Given the description of an element on the screen output the (x, y) to click on. 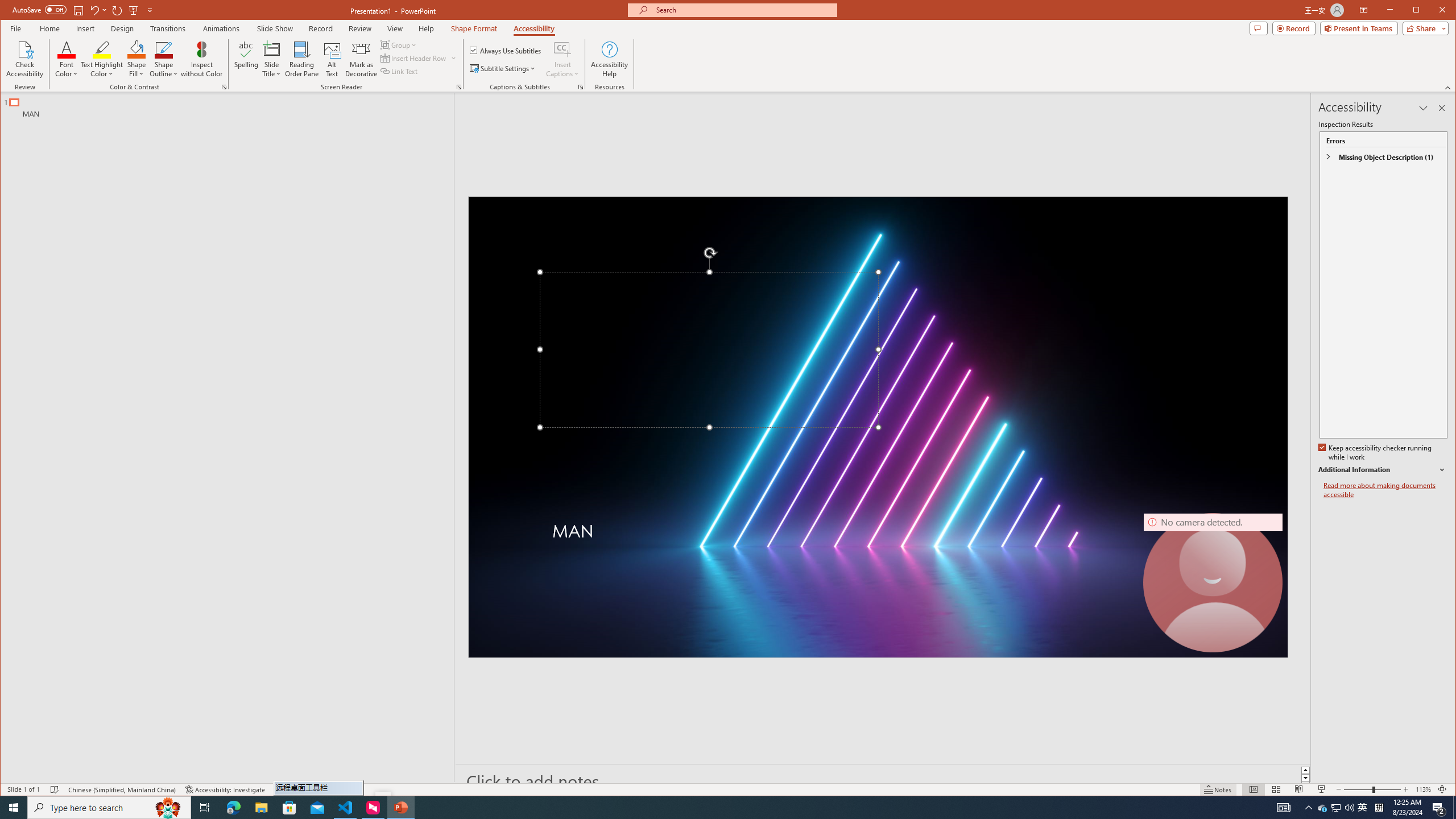
Neon laser lights aligned to form a triangle (877, 426)
Mark as Decorative (360, 59)
Screen Reader (458, 86)
Group (399, 44)
